Given the description of an element on the screen output the (x, y) to click on. 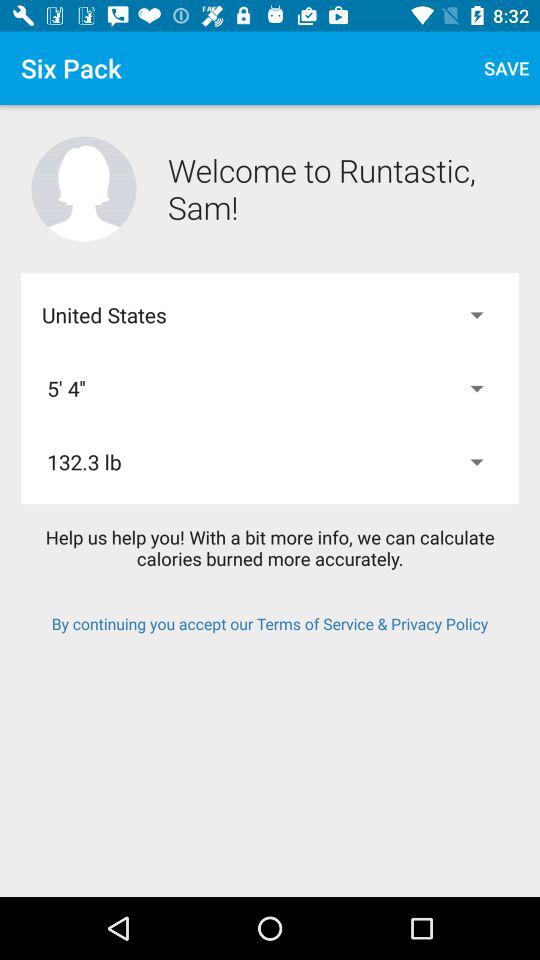
select 132.3 lb (269, 461)
